Given the description of an element on the screen output the (x, y) to click on. 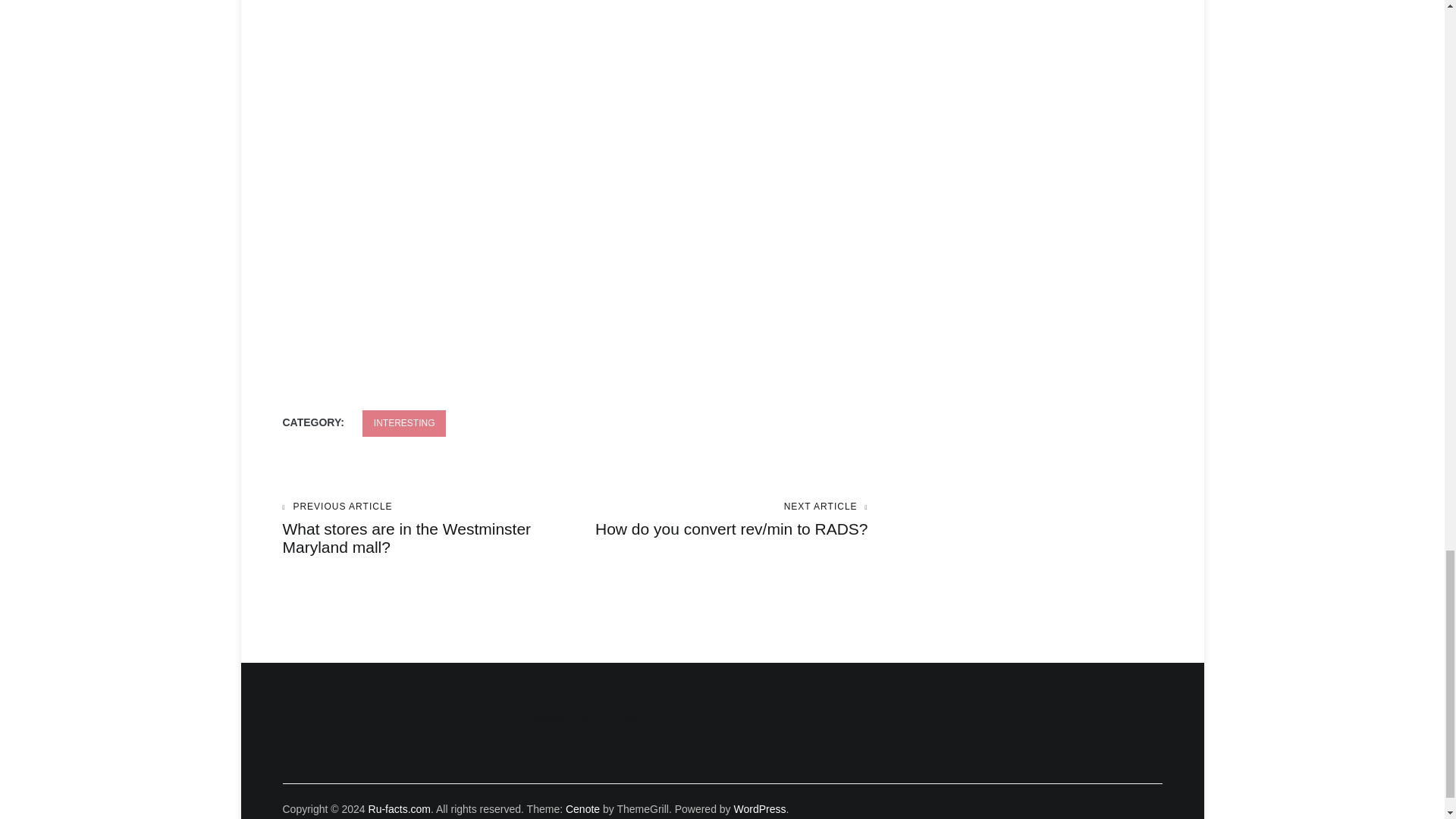
Ru-facts.com (399, 808)
INTERESTING (404, 423)
